Given the description of an element on the screen output the (x, y) to click on. 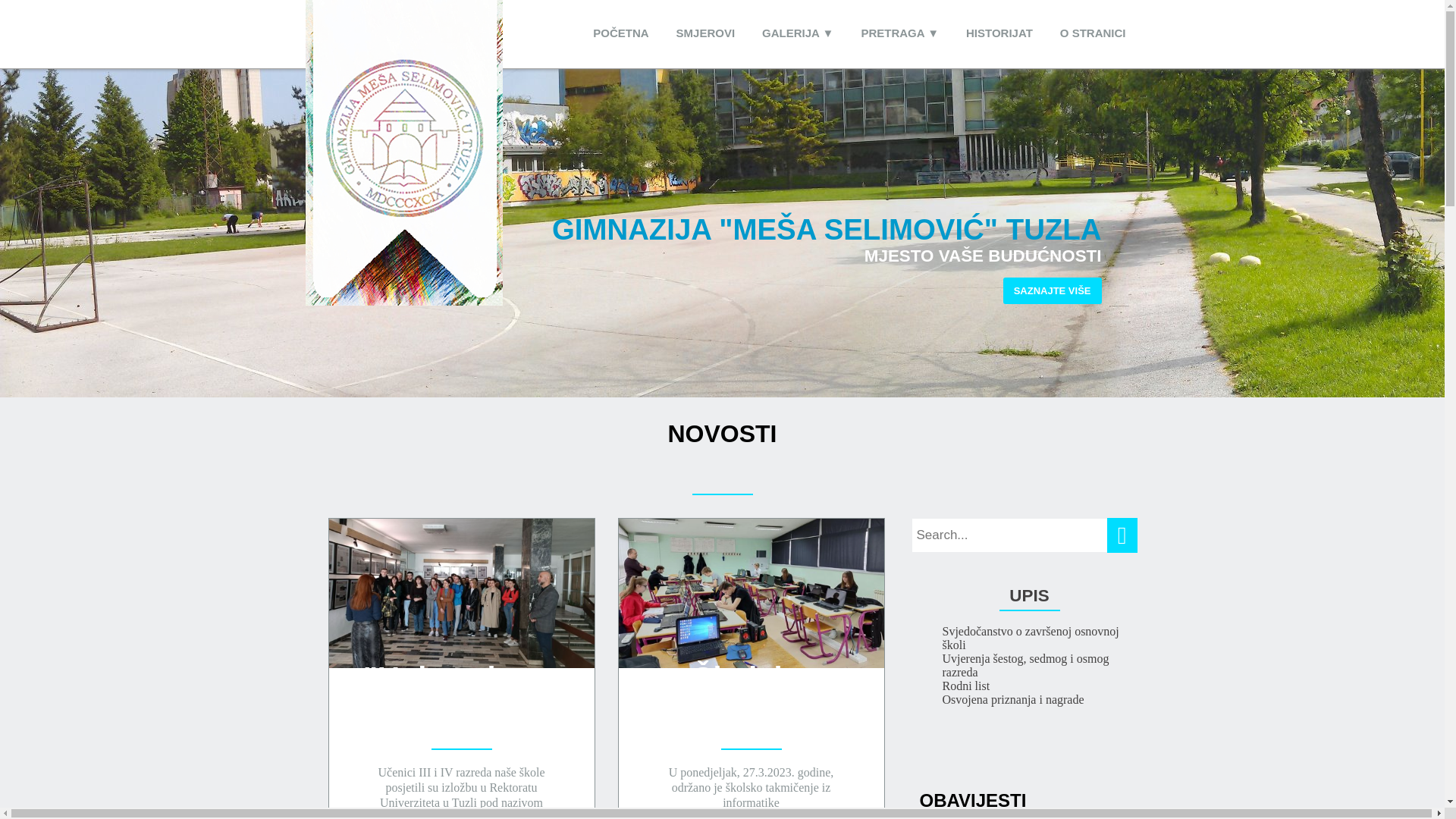
O STRANICI Element type: text (1092, 32)
SMJEROVI Element type: text (705, 32)
HISTORIJAT Element type: text (999, 32)
